Given the description of an element on the screen output the (x, y) to click on. 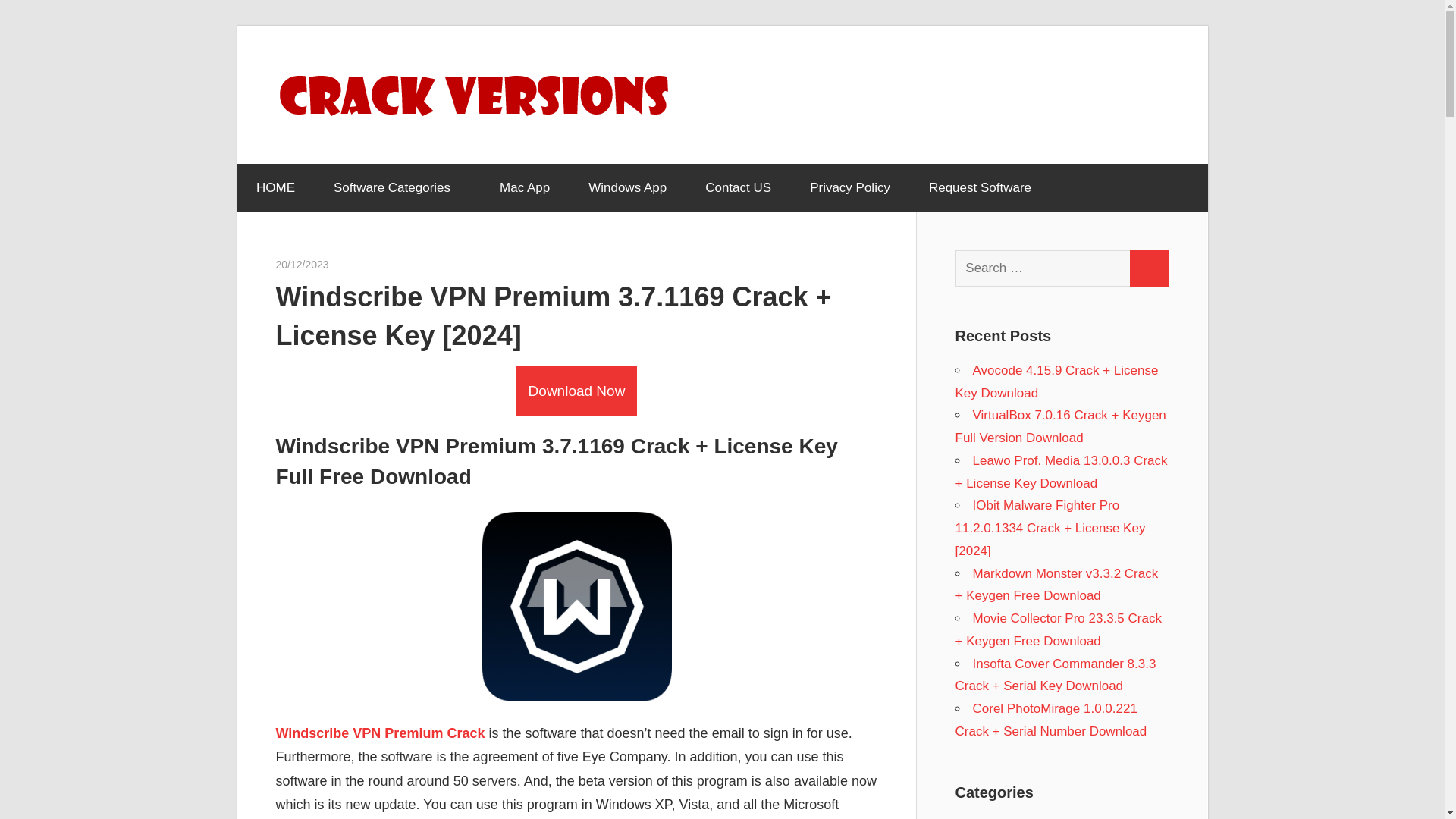
Software Categories (397, 187)
Privacy Policy (850, 187)
Download Now (576, 391)
2:31 am (302, 264)
Download Now (576, 390)
Windscribe VPN Premium Crack (380, 733)
HOME (274, 187)
getversion (353, 264)
Request Software (978, 187)
Mac App (524, 187)
Windows App (627, 187)
View all posts by getversion (353, 264)
Contact US (737, 187)
